Given the description of an element on the screen output the (x, y) to click on. 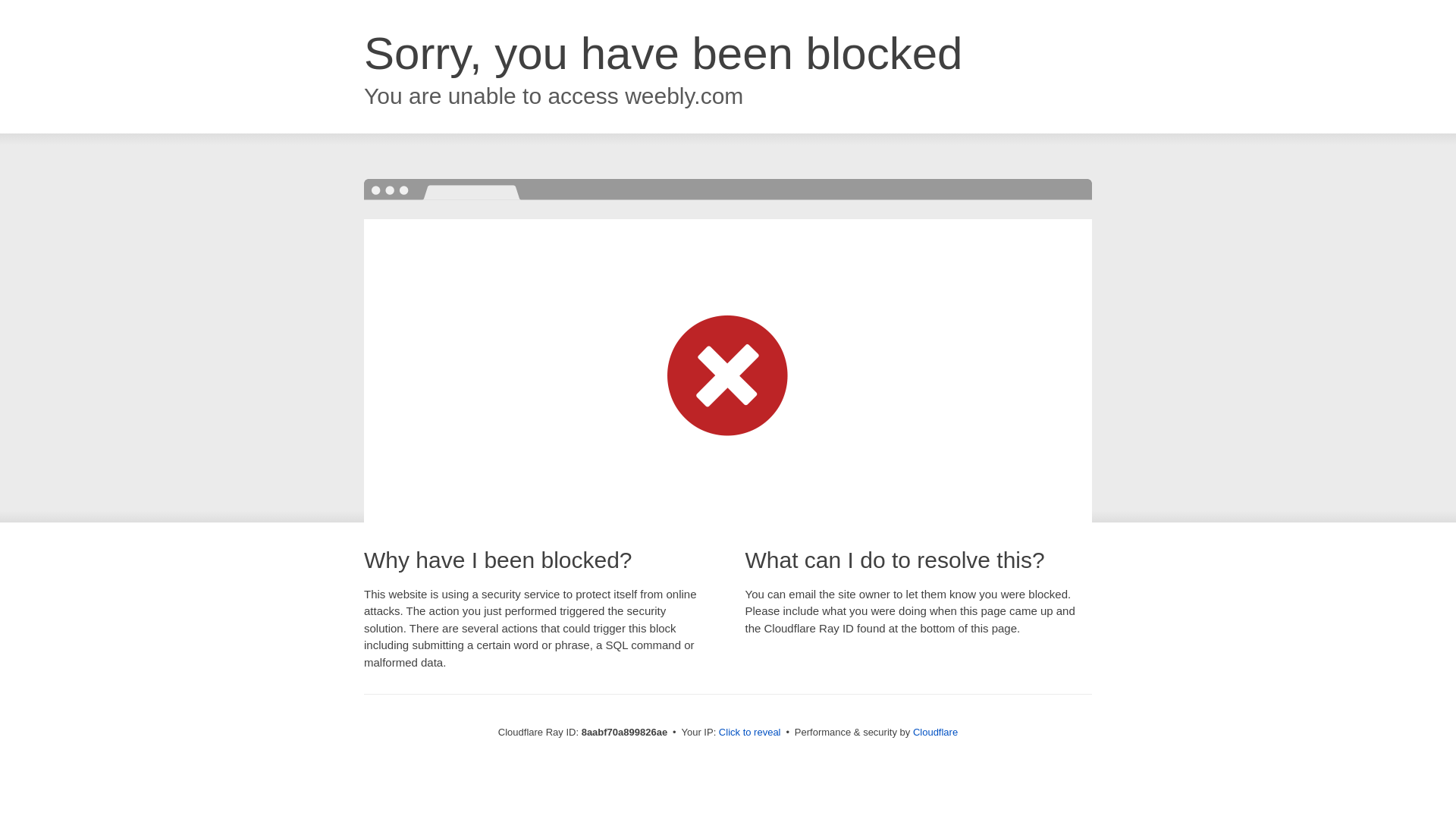
Click to reveal (749, 732)
Cloudflare (935, 731)
